Given the description of an element on the screen output the (x, y) to click on. 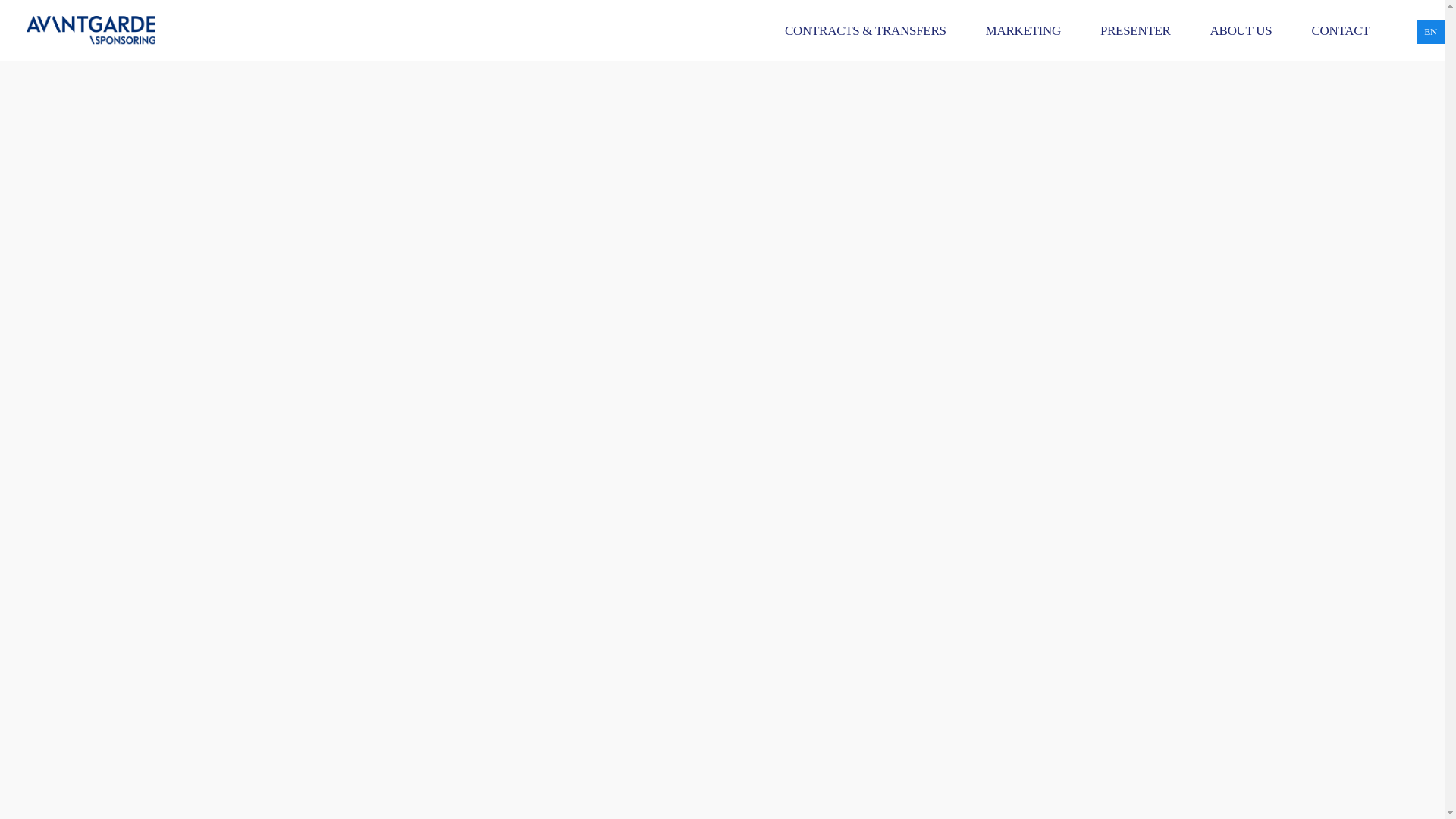
BACK TO HOME (721, 280)
PRESENTER (1135, 30)
CONTACT (1340, 30)
ABOUT US (1240, 30)
IMPRINT (127, 398)
MARKETING (1023, 30)
PRIVACY POLICY (60, 398)
